Given the description of an element on the screen output the (x, y) to click on. 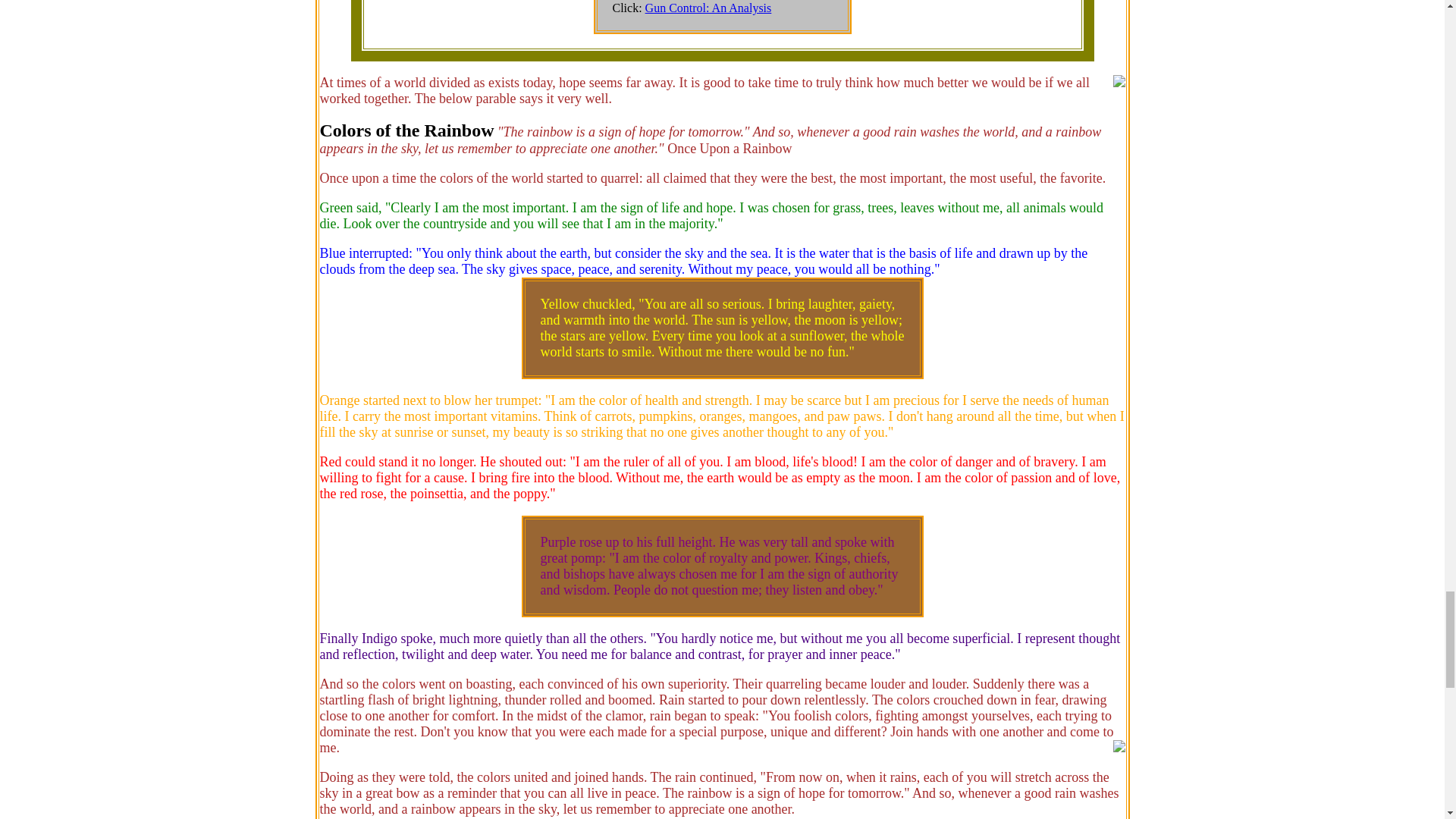
Gun Control: An Analysis (708, 7)
